Given the description of an element on the screen output the (x, y) to click on. 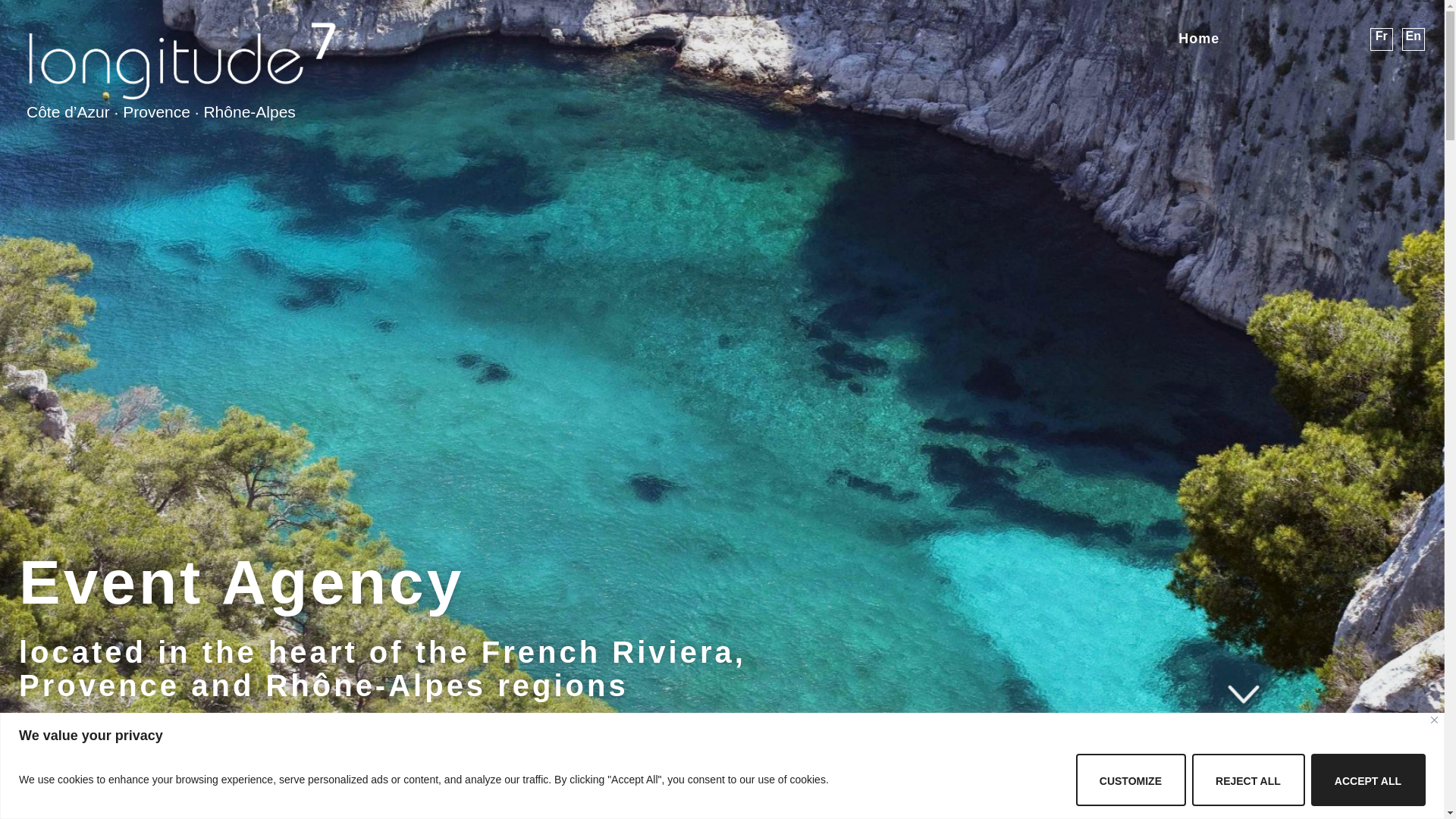
Fr (1381, 38)
En (1413, 38)
Home (1202, 39)
REJECT ALL (1248, 779)
CUSTOMIZE (1130, 779)
ACCEPT ALL (1368, 779)
